Given the description of an element on the screen output the (x, y) to click on. 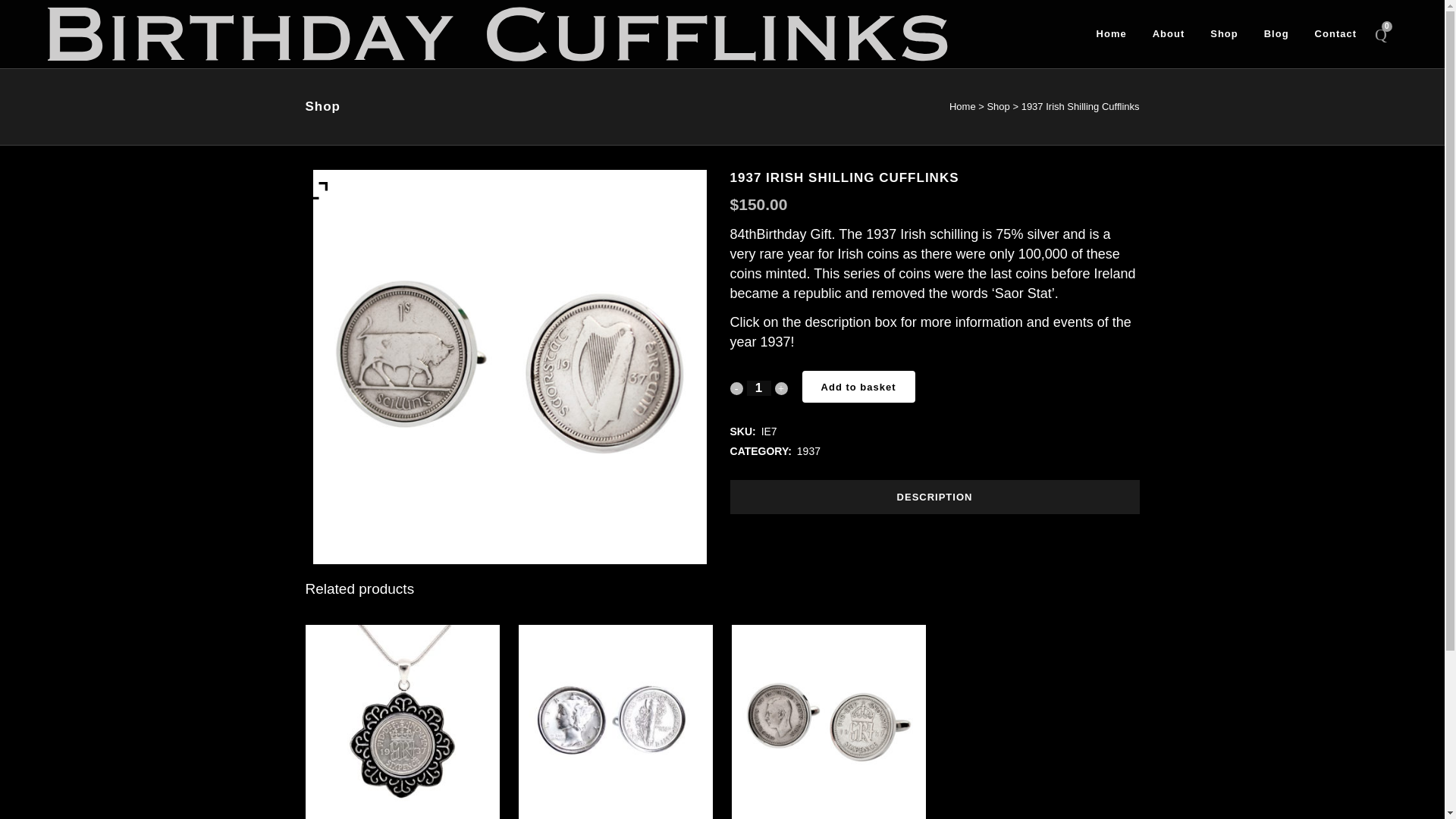
Contact (1335, 33)
1937 (808, 451)
Qty (758, 387)
Shop (998, 106)
- (736, 388)
Home (962, 106)
1 (758, 387)
Add to basket (858, 386)
